Given the description of an element on the screen output the (x, y) to click on. 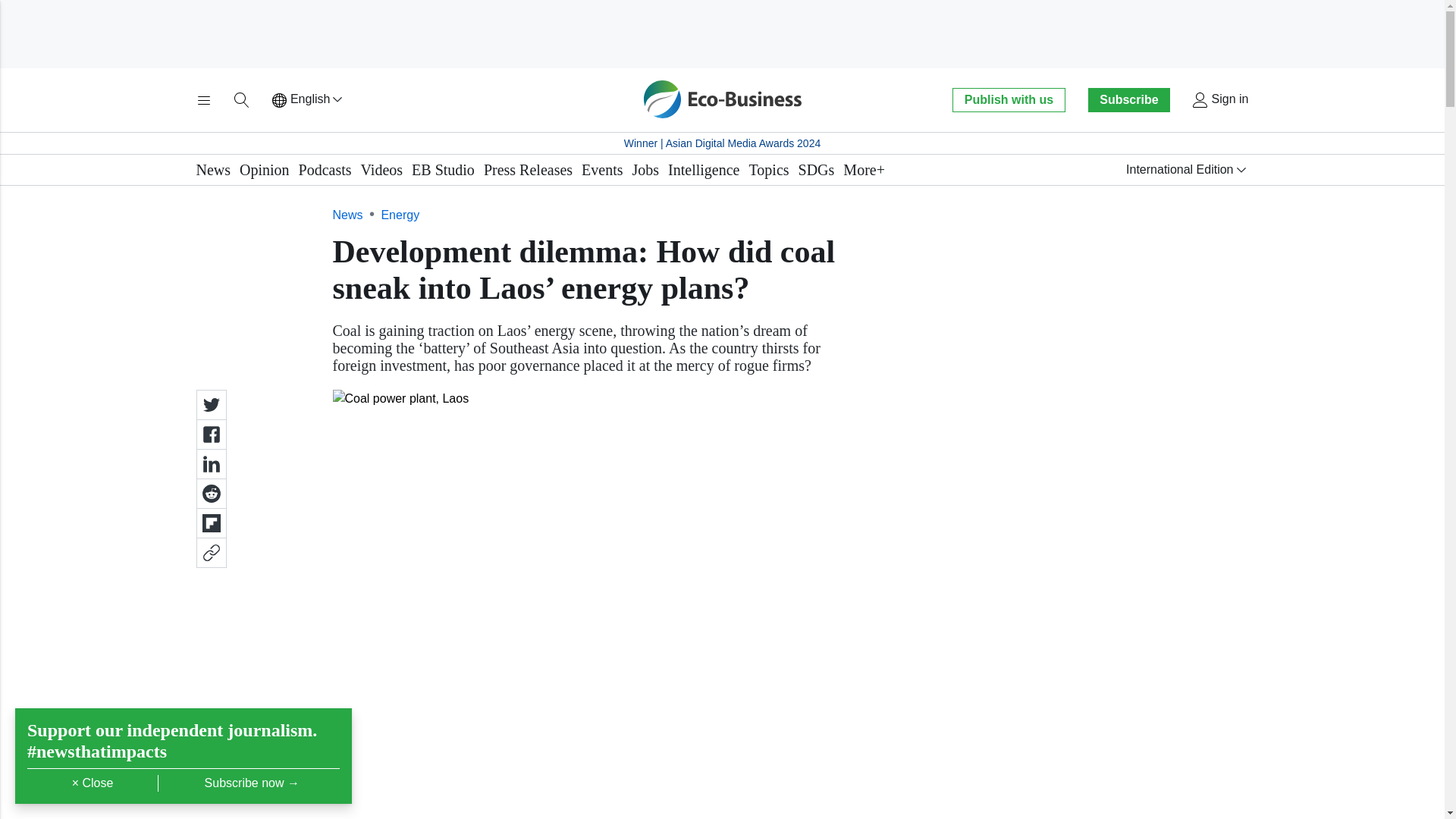
Toggle menu (203, 99)
Podcasts (325, 169)
Share on Facebook (210, 434)
Sign in or sign up (1219, 99)
EB Studio (443, 169)
Share on LinkedIn (210, 463)
Share on Reddit (210, 493)
English (307, 99)
Opinion (264, 169)
Press Releases (527, 169)
